Given the description of an element on the screen output the (x, y) to click on. 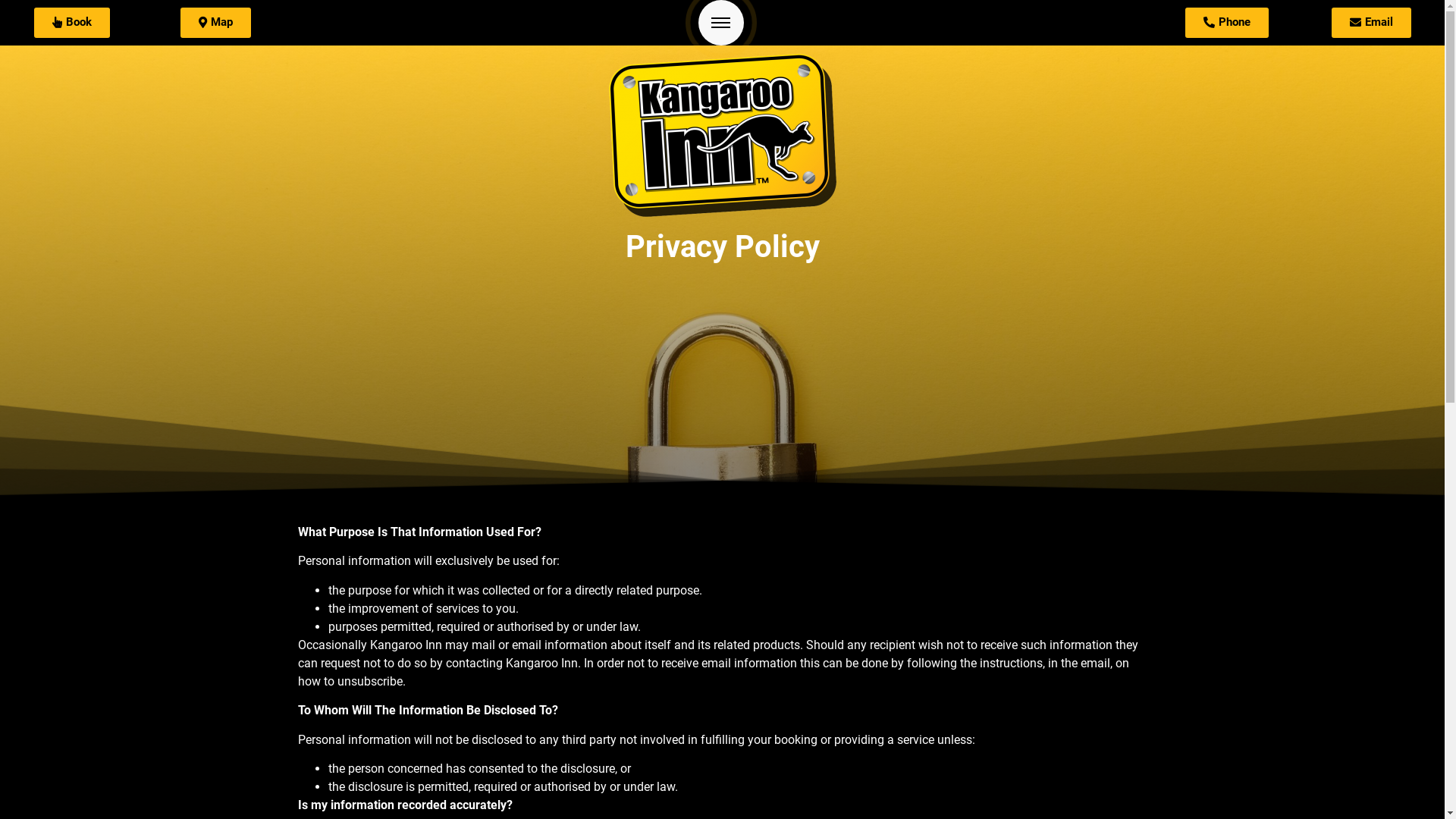
Email Element type: text (1371, 22)
Phone Element type: text (1226, 22)
Book Element type: text (71, 22)
Map Element type: text (215, 22)
